Given the description of an element on the screen output the (x, y) to click on. 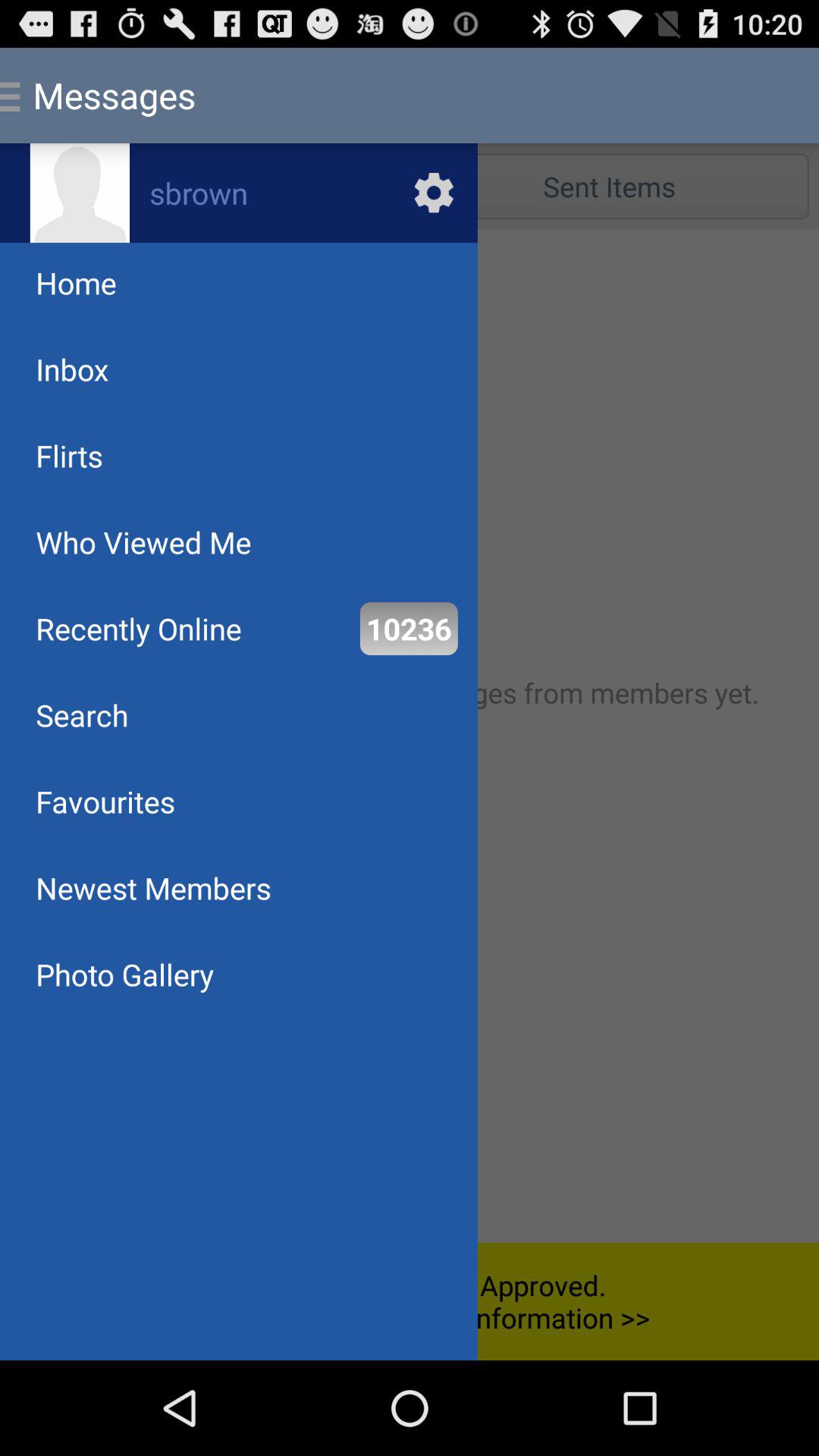
turn off newest members (153, 887)
